Given the description of an element on the screen output the (x, y) to click on. 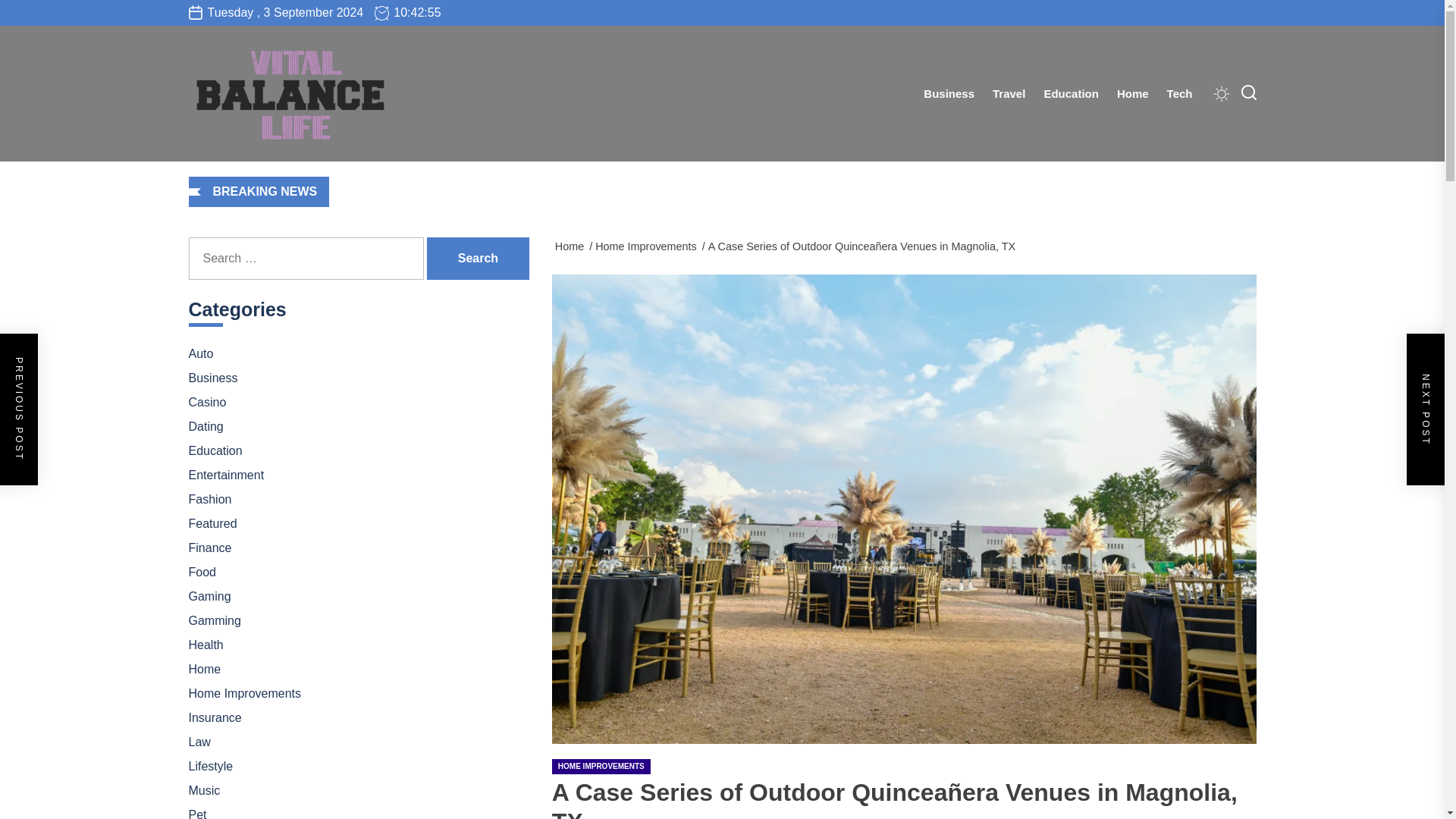
Home Improvements (648, 246)
Search (477, 258)
Tech (1179, 94)
Travel (1008, 94)
HOME IMPROVEMENTS (600, 766)
Education (1070, 94)
Search (477, 258)
VITAL BALANCE LIFE (392, 172)
Home (571, 246)
Business (949, 94)
